Given the description of an element on the screen output the (x, y) to click on. 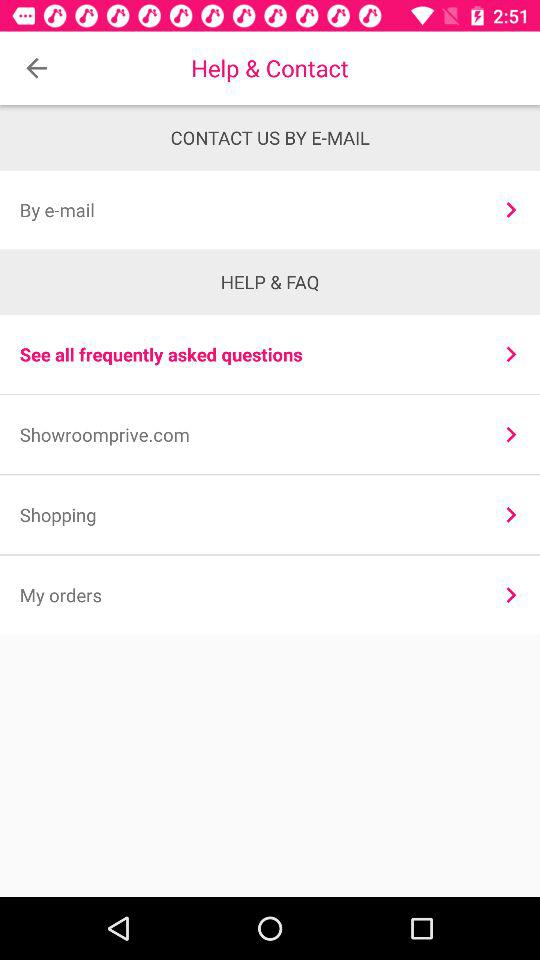
press item above the contact us by icon (36, 68)
